Given the description of an element on the screen output the (x, y) to click on. 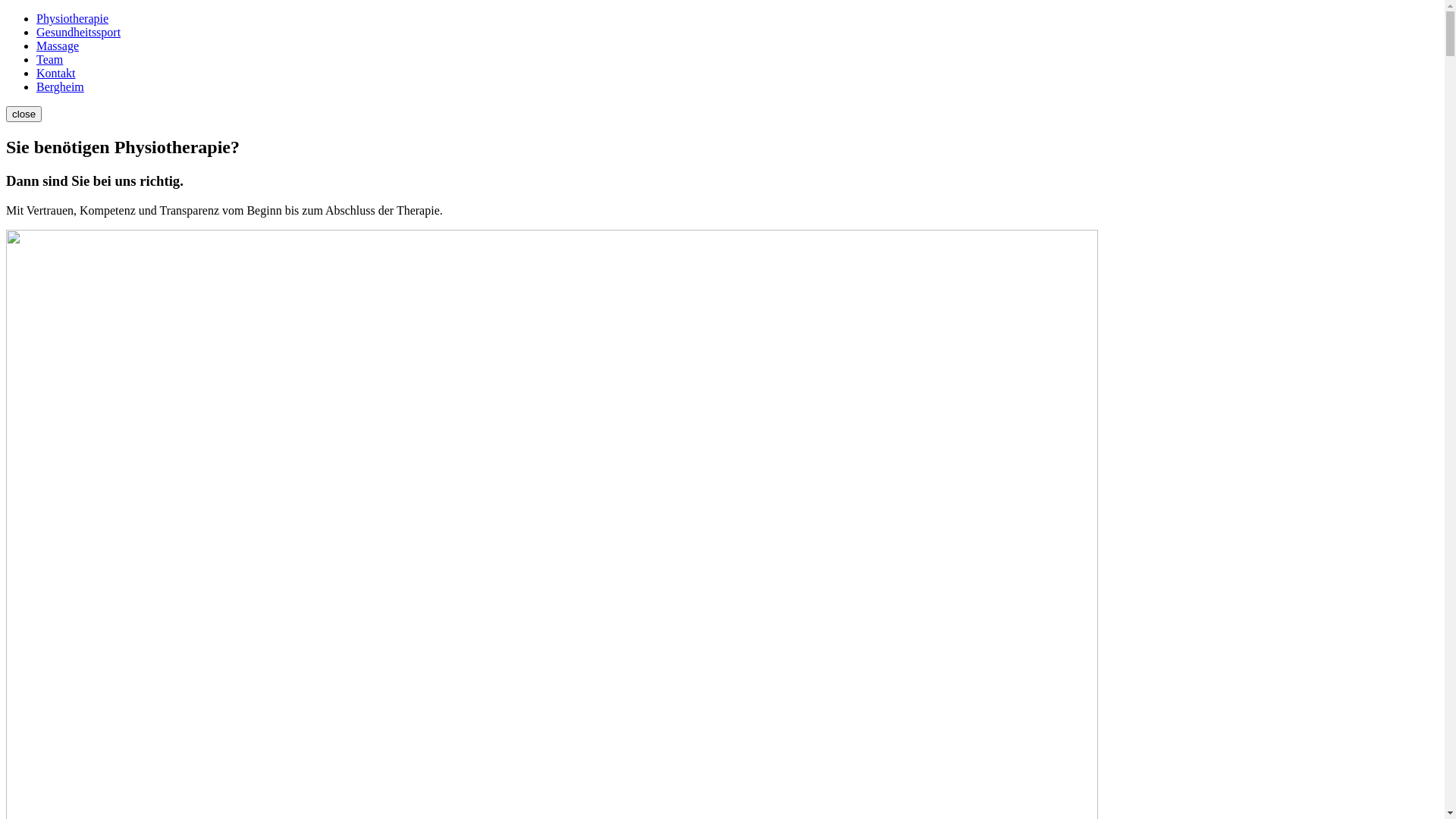
Team Element type: text (49, 59)
Kontakt Element type: text (55, 72)
Bergheim Element type: text (60, 86)
close Element type: text (23, 114)
Gesundheitssport Element type: text (78, 31)
Physiotherapie Element type: text (72, 18)
Massage Element type: text (57, 45)
